Given the description of an element on the screen output the (x, y) to click on. 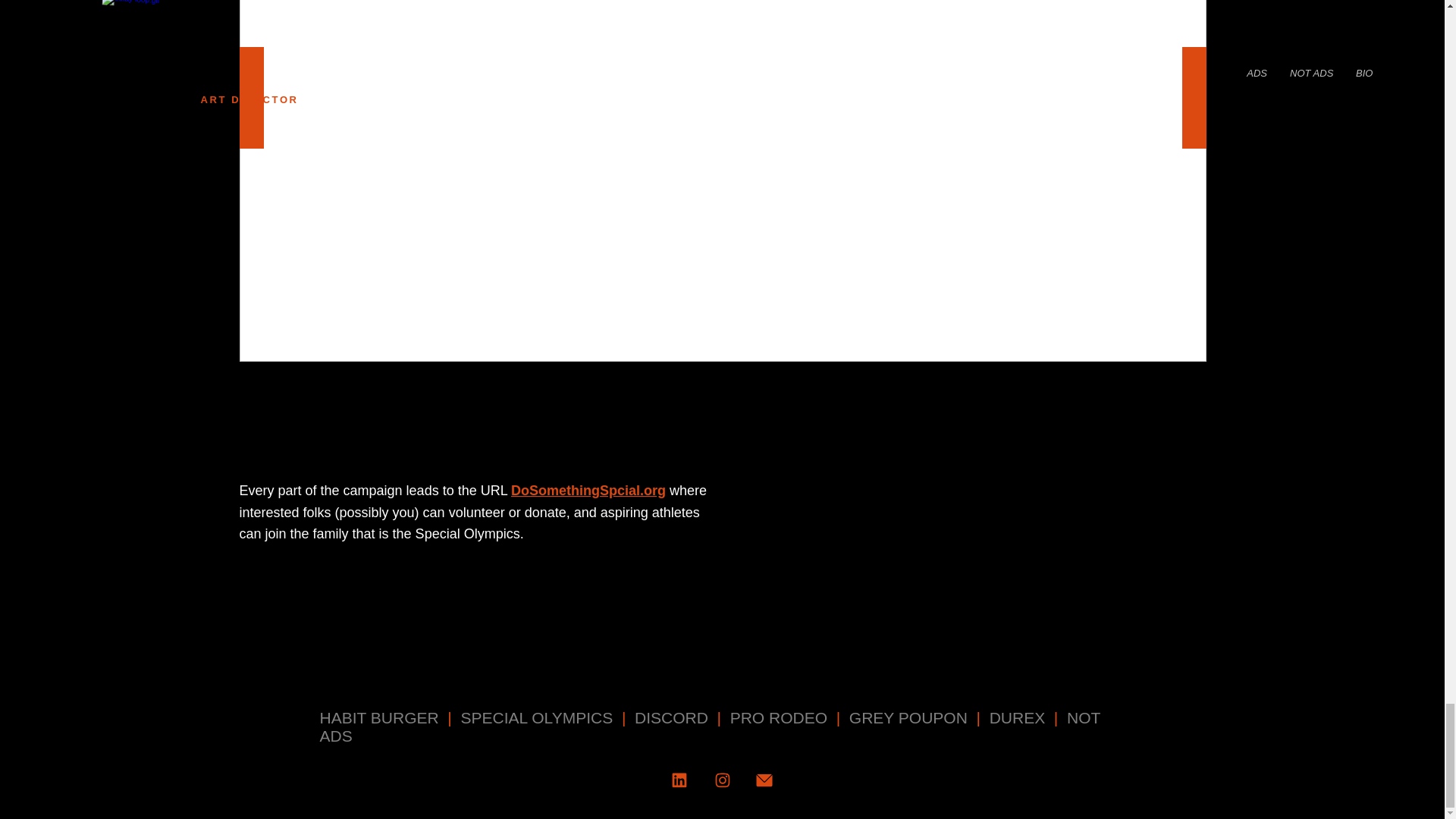
NOT ADS (710, 726)
SPECIAL OLYMPICS  (538, 717)
HABIT BURGER (379, 717)
DoSomethingSpcial.org (588, 490)
DISCORD (670, 717)
PRO RODEO  (780, 717)
GREY POUPON (908, 717)
DUREX (1017, 717)
